Given the description of an element on the screen output the (x, y) to click on. 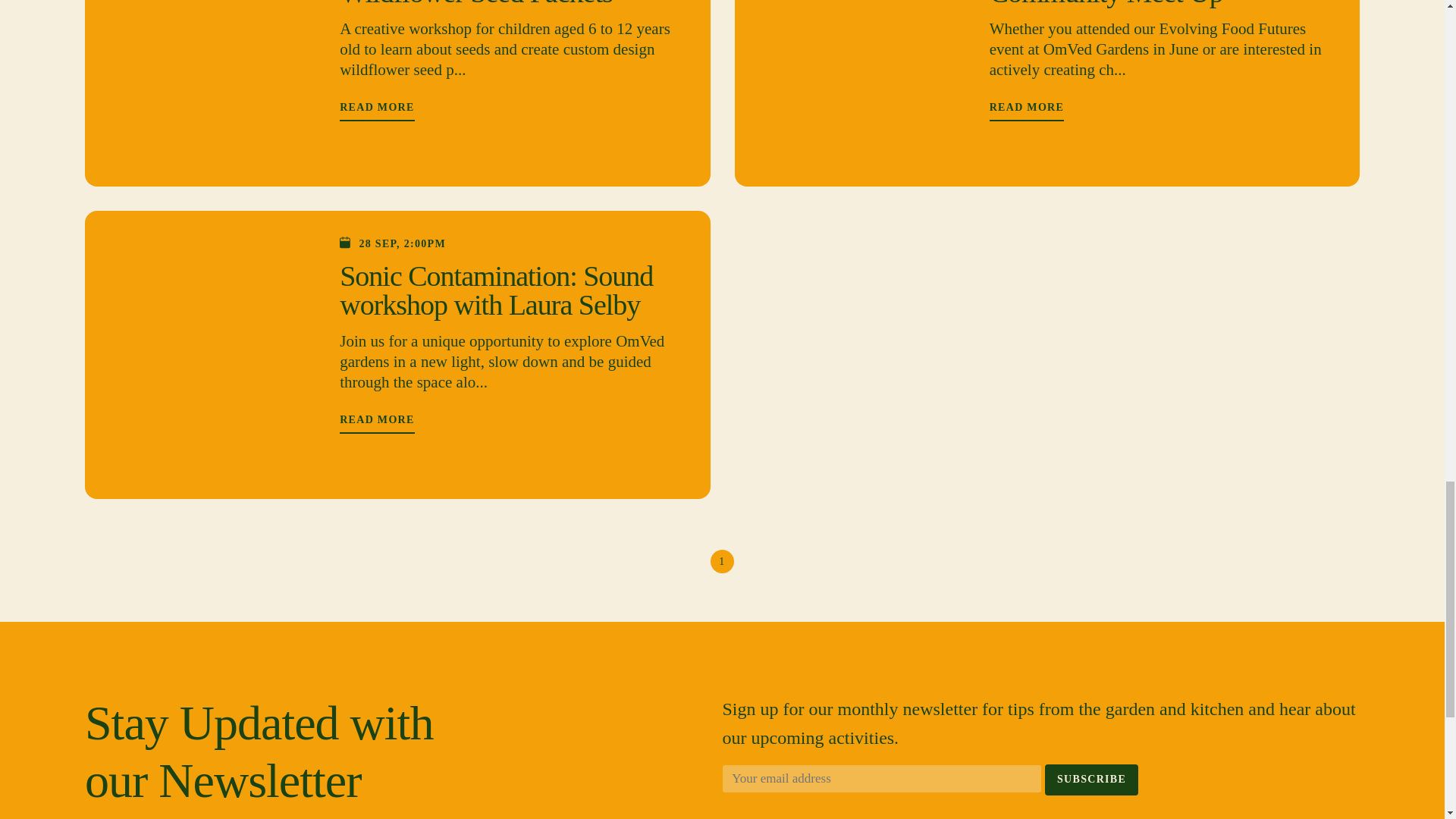
1 (721, 561)
Subscribe (1091, 779)
Subscribe (1091, 779)
